Given the description of an element on the screen output the (x, y) to click on. 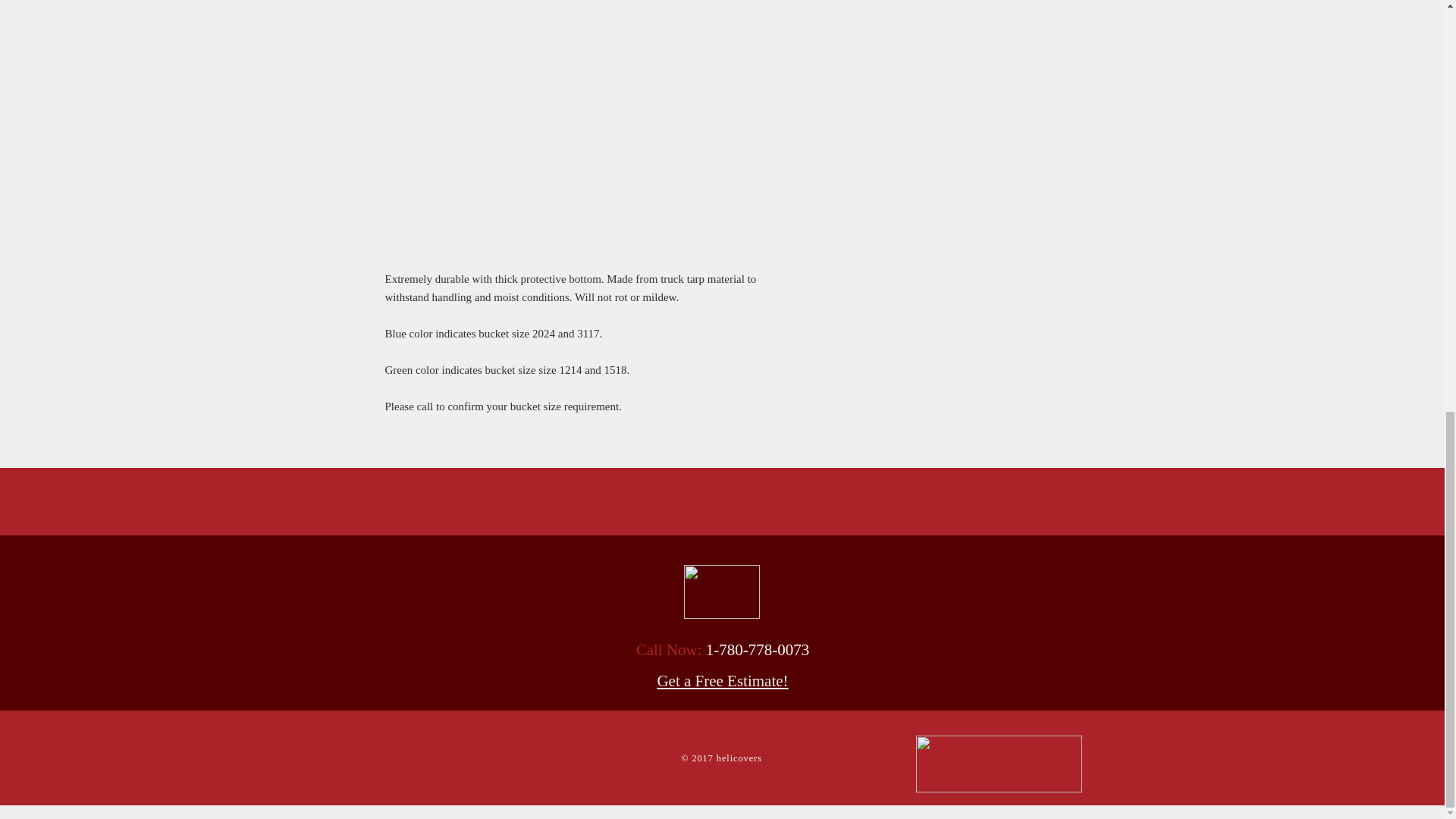
Get a Free Estimate! (721, 680)
1- (712, 649)
